Given the description of an element on the screen output the (x, y) to click on. 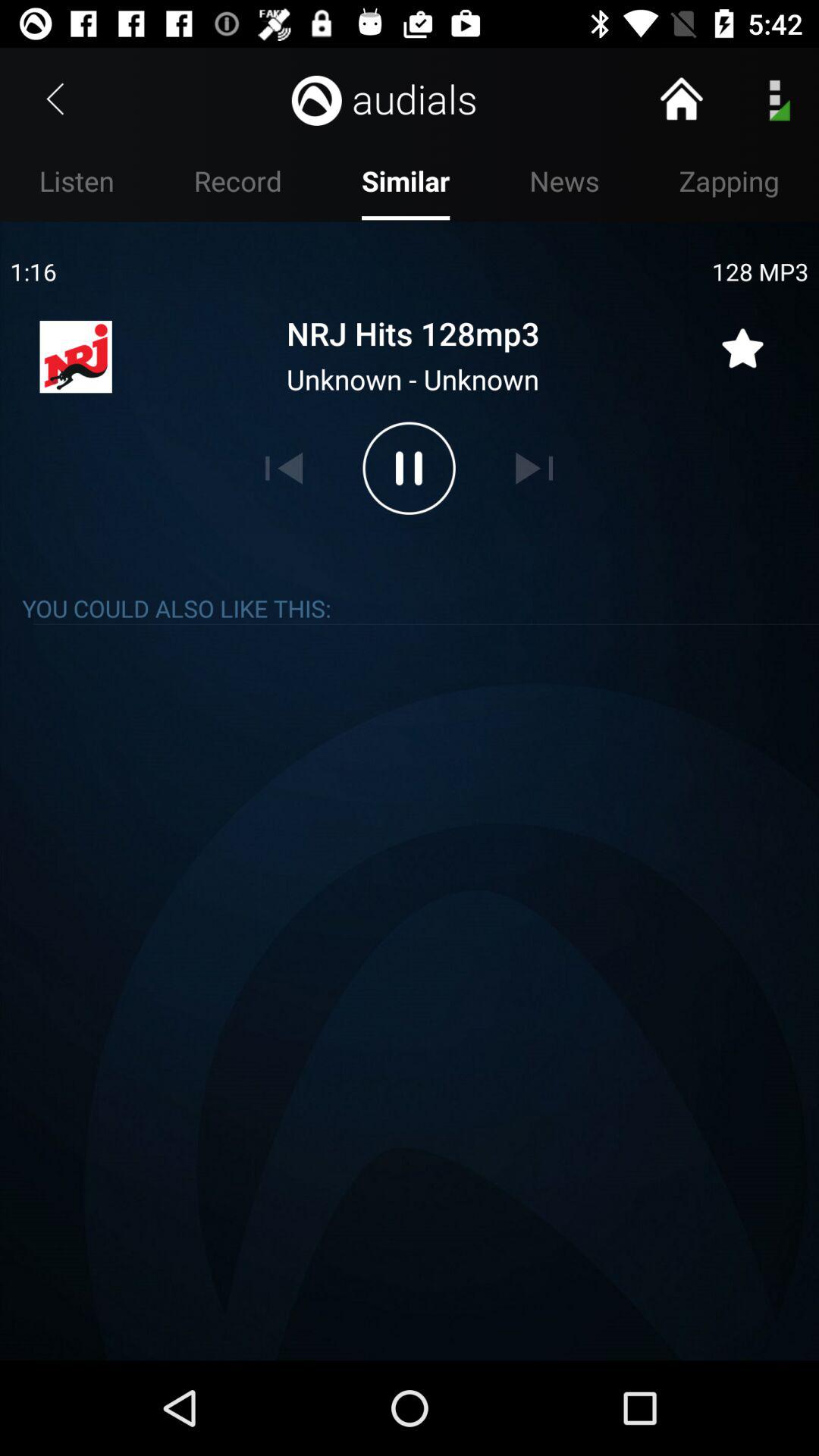
play next song (534, 468)
